Given the description of an element on the screen output the (x, y) to click on. 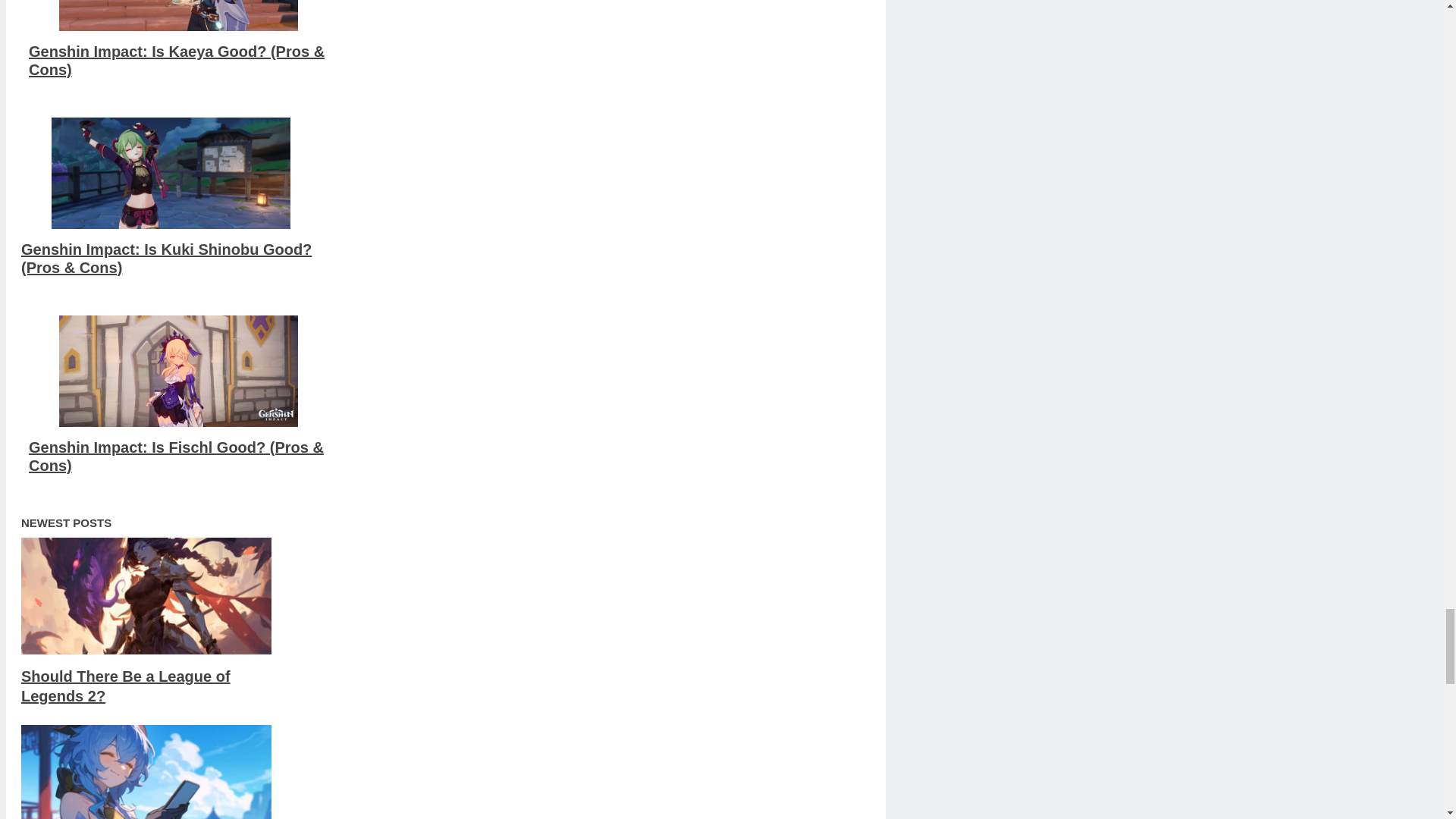
Should There Be a League of Legends 2? (125, 686)
